Given the description of an element on the screen output the (x, y) to click on. 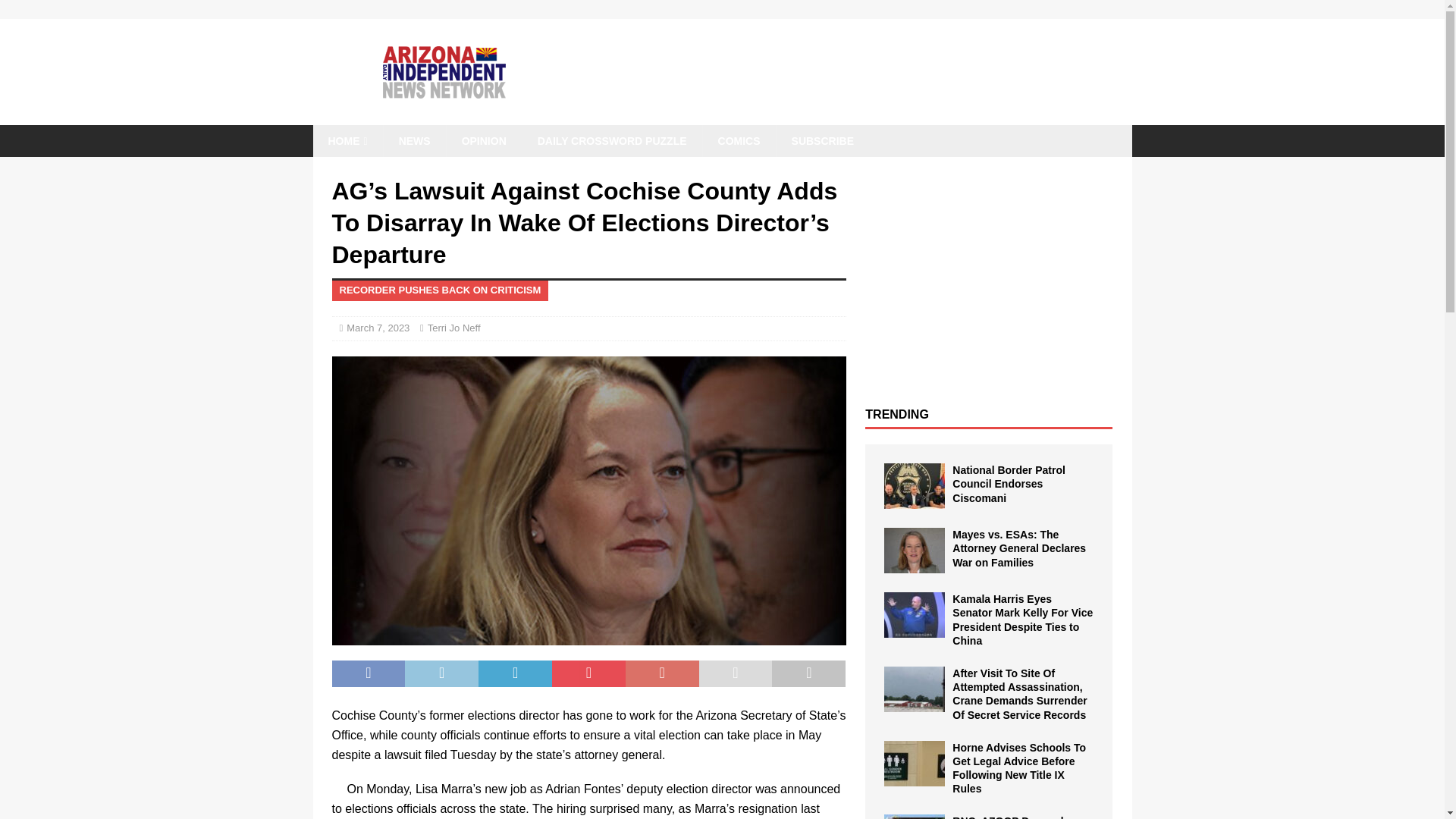
HOME (347, 141)
SUBSCRIBE (822, 141)
March 7, 2023 (377, 327)
NEWS (413, 141)
DAILY CROSSWORD PUZZLE (611, 141)
COMICS (738, 141)
TRENDING (896, 413)
Terri Jo Neff (454, 327)
National Border Patrol Council Endorses Ciscomani (1008, 483)
